Given the description of an element on the screen output the (x, y) to click on. 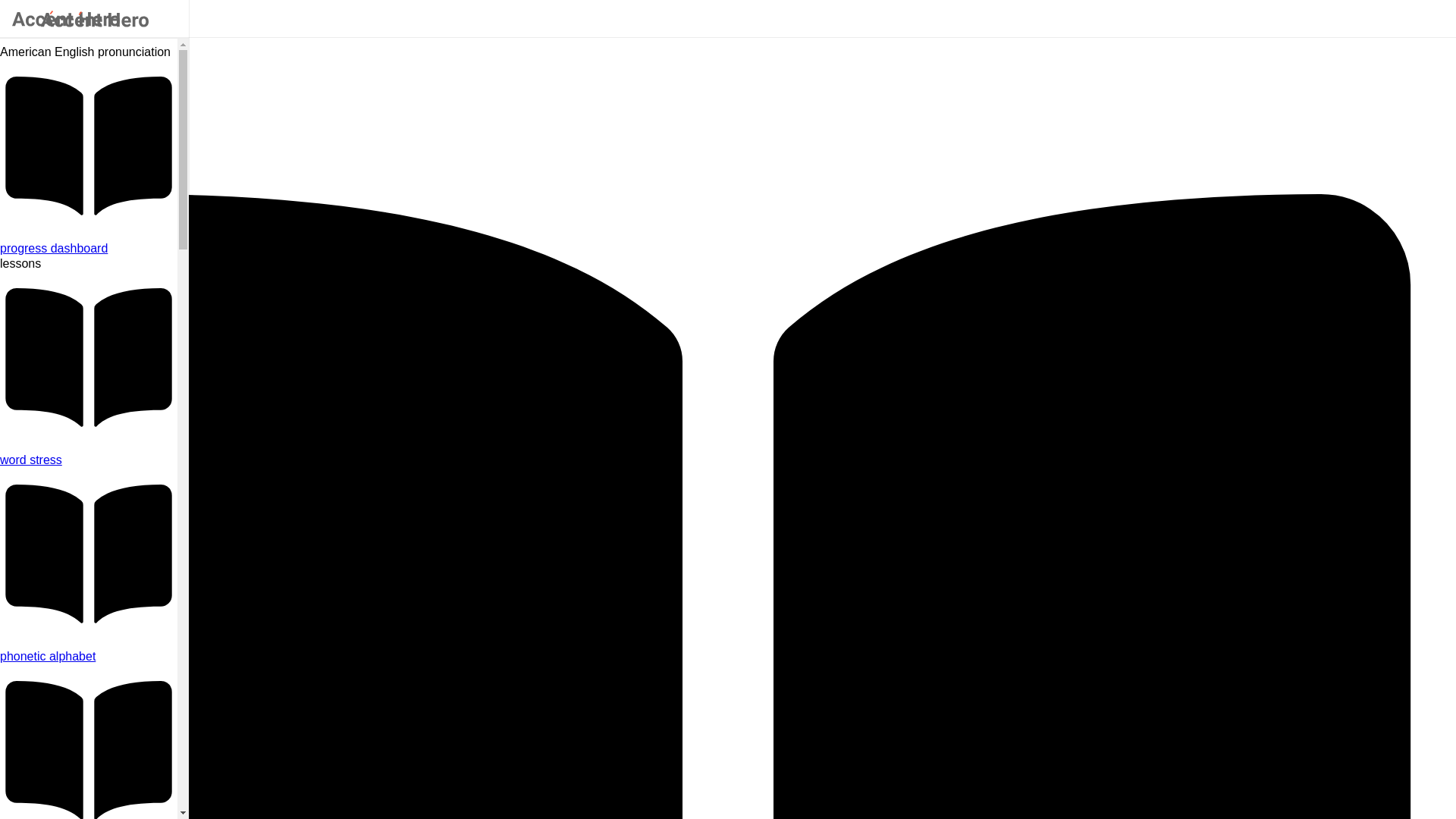
Learn to precisely articulate each sound (88, 656)
Learn how word stress influences your accent (88, 459)
